Given the description of an element on the screen output the (x, y) to click on. 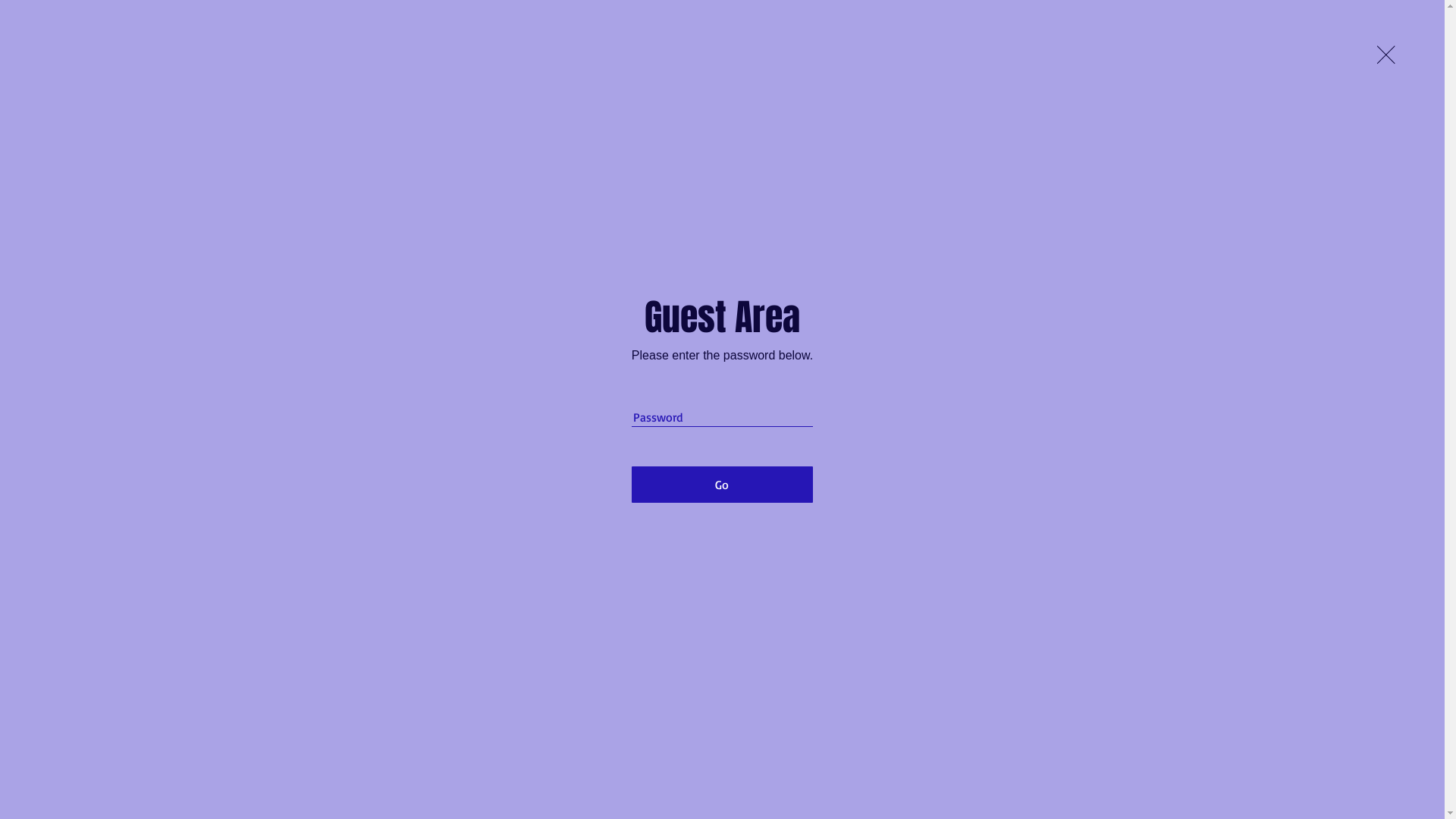
Go Element type: text (721, 484)
